Given the description of an element on the screen output the (x, y) to click on. 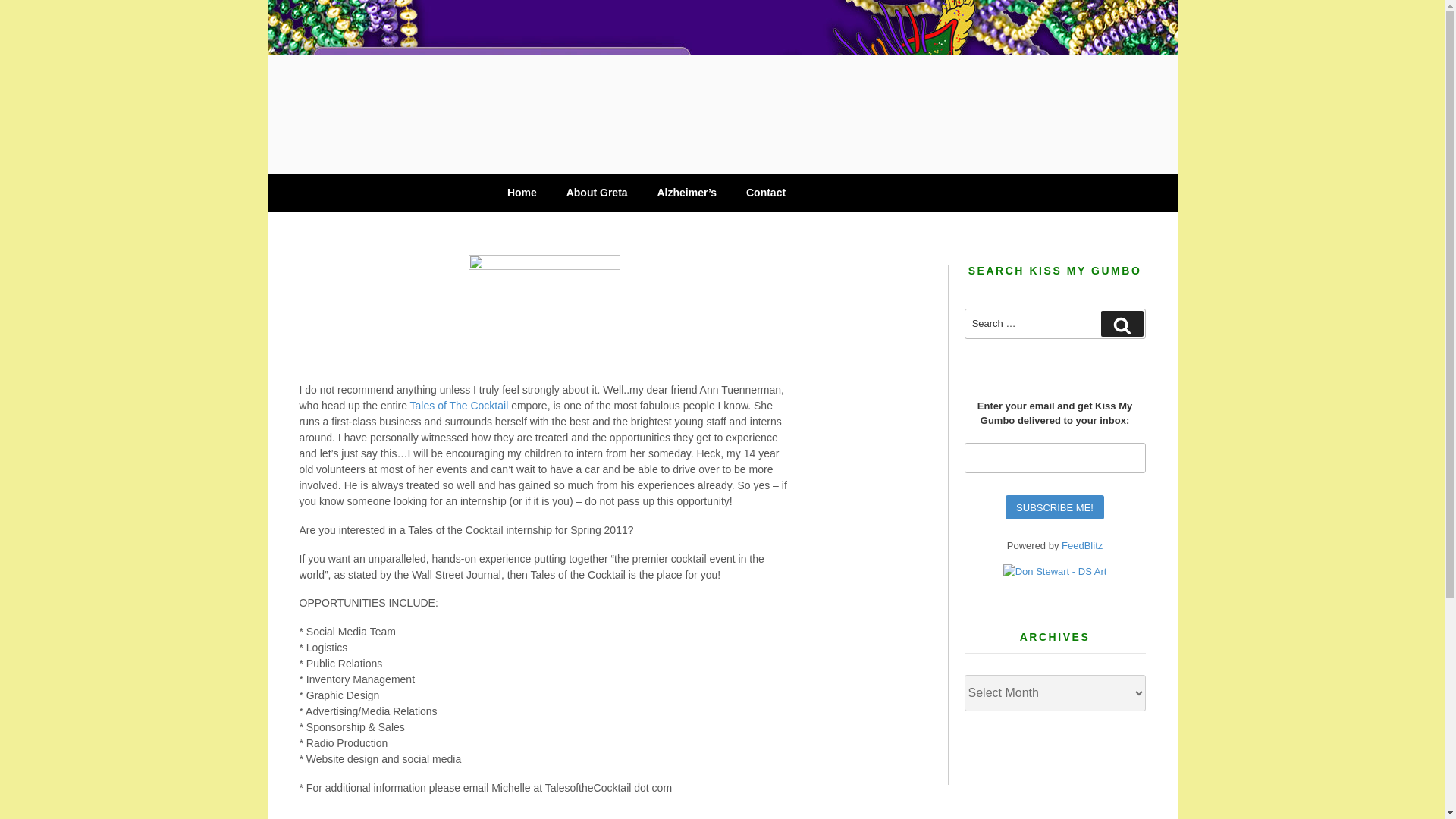
Tales of The Cocktail (461, 405)
Home (521, 192)
Search (1121, 323)
Subscribe me! (1054, 507)
FeedBlitz (1081, 545)
Contact (764, 192)
Subscribe me! (1054, 507)
About Greta (596, 192)
